Given the description of an element on the screen output the (x, y) to click on. 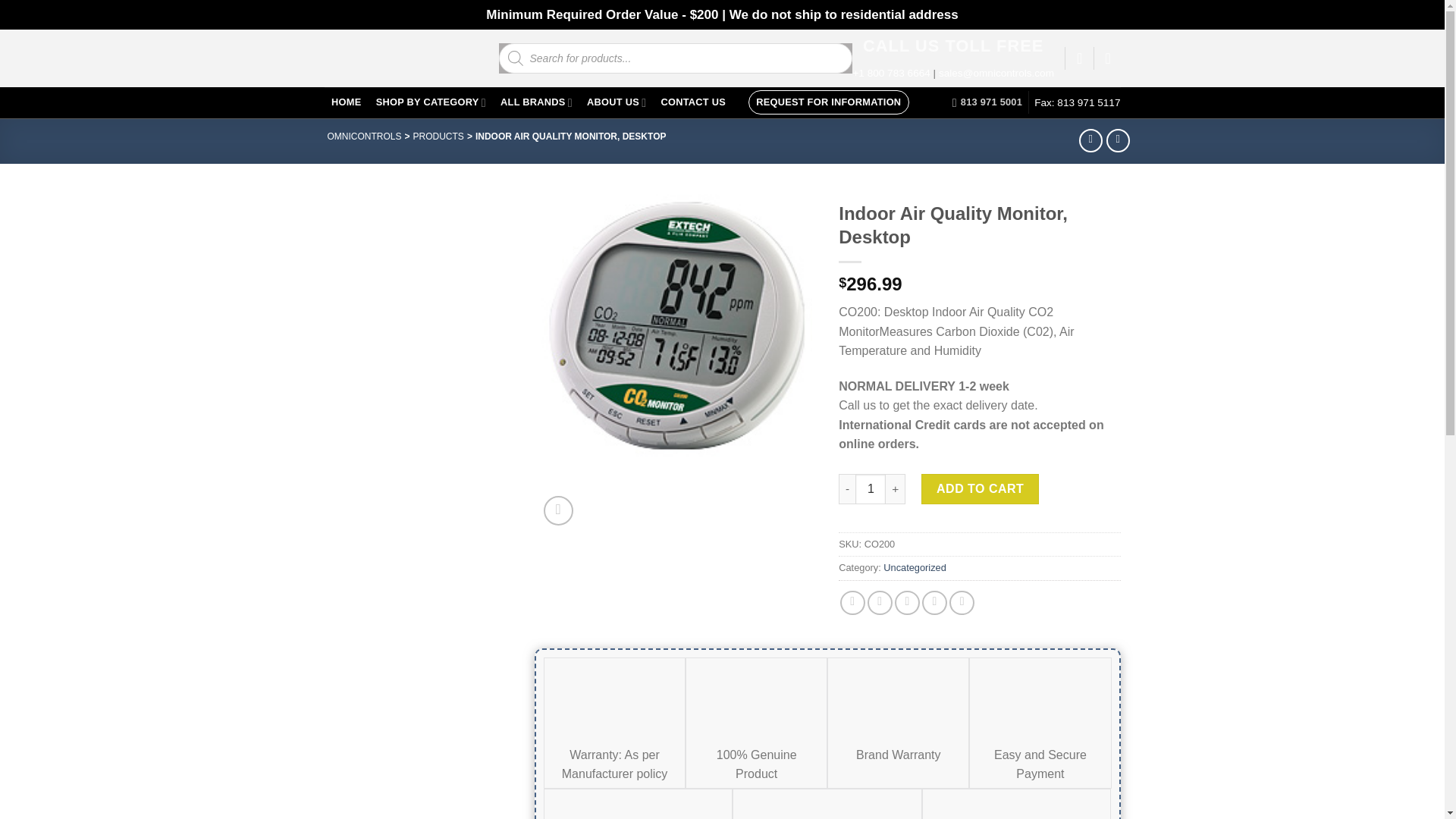
813 971 5001 (987, 101)
Go to OMNICONTROLS. (364, 140)
HOME (346, 102)
SHOP BY CATEGORY (430, 102)
Go to Products. (438, 140)
Zoom (558, 510)
1 (870, 489)
Qty (870, 489)
OMNICONTROLS - Test Measurement Equipments Supplies (400, 57)
